Given the description of an element on the screen output the (x, y) to click on. 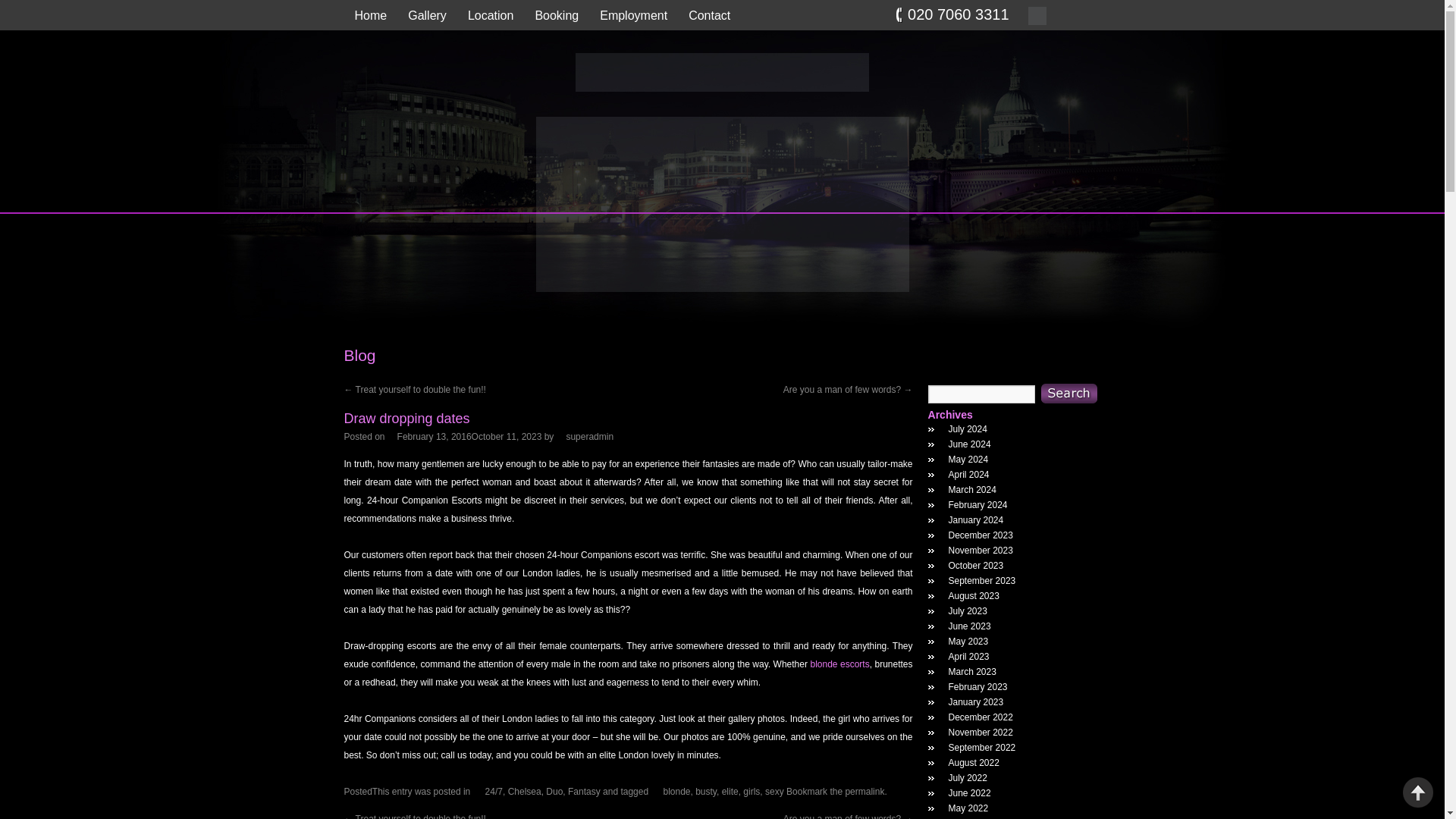
Gallery (427, 17)
Home (370, 17)
Search (1068, 393)
Location (490, 17)
